Given the description of an element on the screen output the (x, y) to click on. 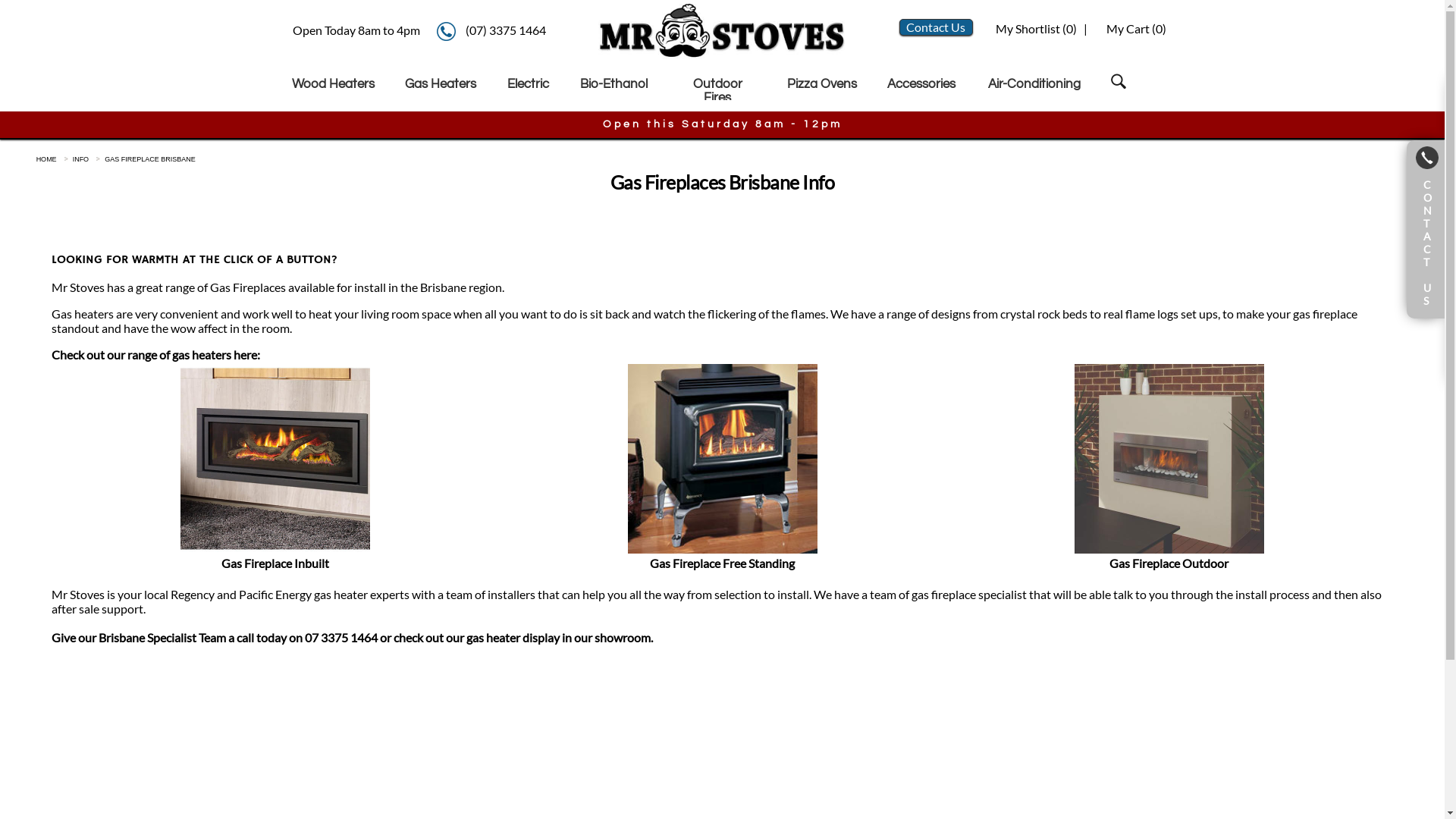
GAS FIREPLACE BRISBANE Element type: text (149, 159)
Air-Conditioning Element type: text (1034, 83)
My Cart (0) Element type: text (1135, 28)
Gas Fireplace Free Standing Element type: text (722, 555)
(07) 3375 1464 Element type: text (505, 29)
INFO Element type: text (80, 159)
Gas Fireplace Inbuilt Element type: text (275, 555)
Gas Fireplace Outdoor Element type: text (1169, 555)
Contact Us Element type: text (935, 26)
Pizza Ovens Element type: text (821, 83)
Electric Element type: text (528, 83)
Wood Heaters Element type: text (332, 83)
C
O
N
T
A
C
T

U
S Element type: text (1425, 229)
Gas Heaters Element type: text (440, 83)
Outdoor Fires Element type: text (716, 90)
Bio-Ethanol Element type: text (613, 83)
My Shortlist (0) Element type: text (1034, 28)
HOME Element type: text (46, 159)
Accessories Element type: text (922, 83)
